Given the description of an element on the screen output the (x, y) to click on. 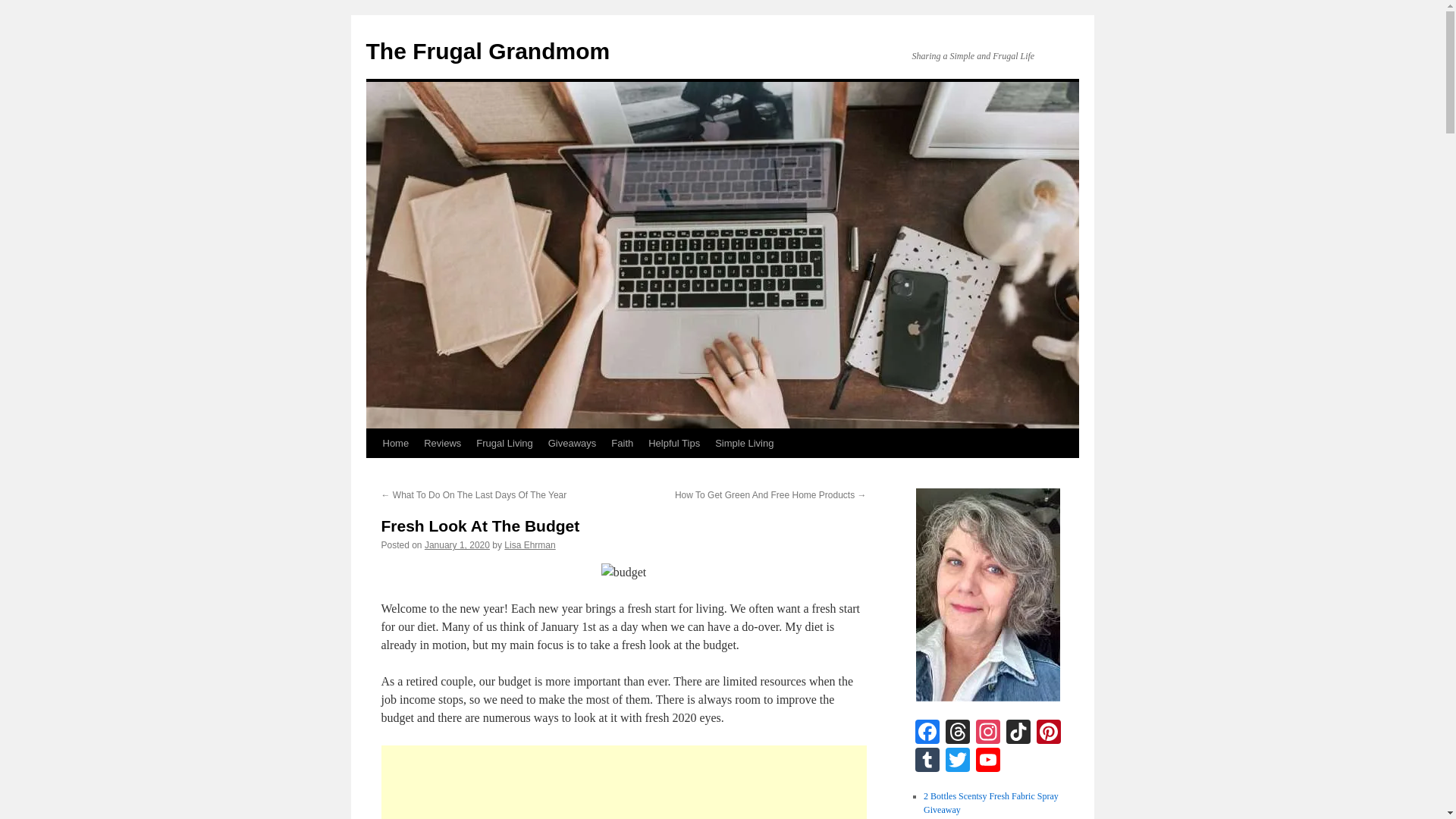
January 1, 2020 (457, 544)
Facebook (926, 733)
Giveaways (572, 443)
Tumblr (926, 761)
Frugal Living (504, 443)
Instagram (987, 733)
Lisa Ehrman (528, 544)
Pinterest (1047, 733)
Simple Living (743, 443)
Helpful Tips (673, 443)
